Given the description of an element on the screen output the (x, y) to click on. 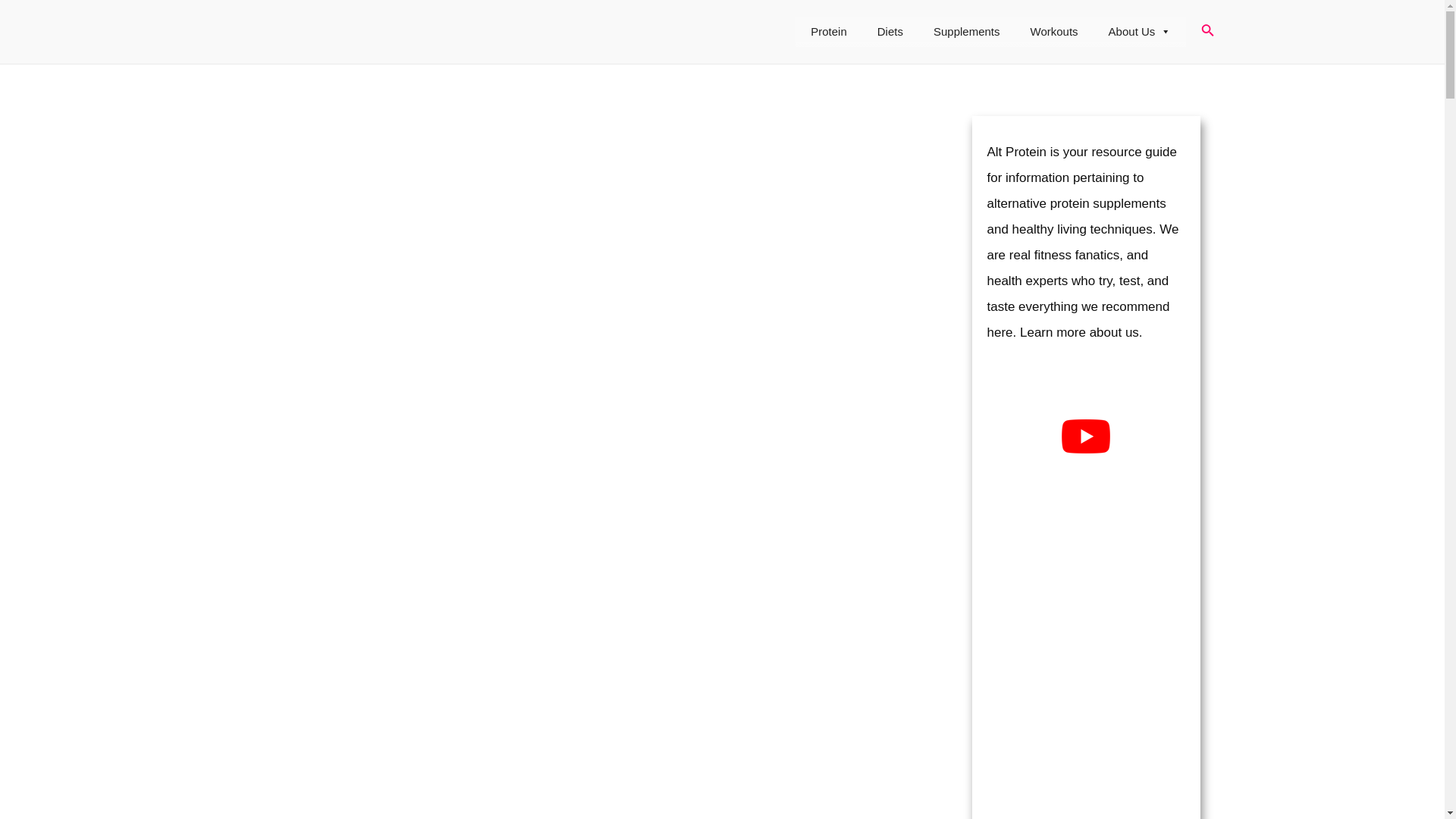
About Us (1139, 31)
Supplements (966, 31)
Search (1207, 31)
Workouts (1053, 31)
Diets (889, 31)
Protein (827, 31)
